Given the description of an element on the screen output the (x, y) to click on. 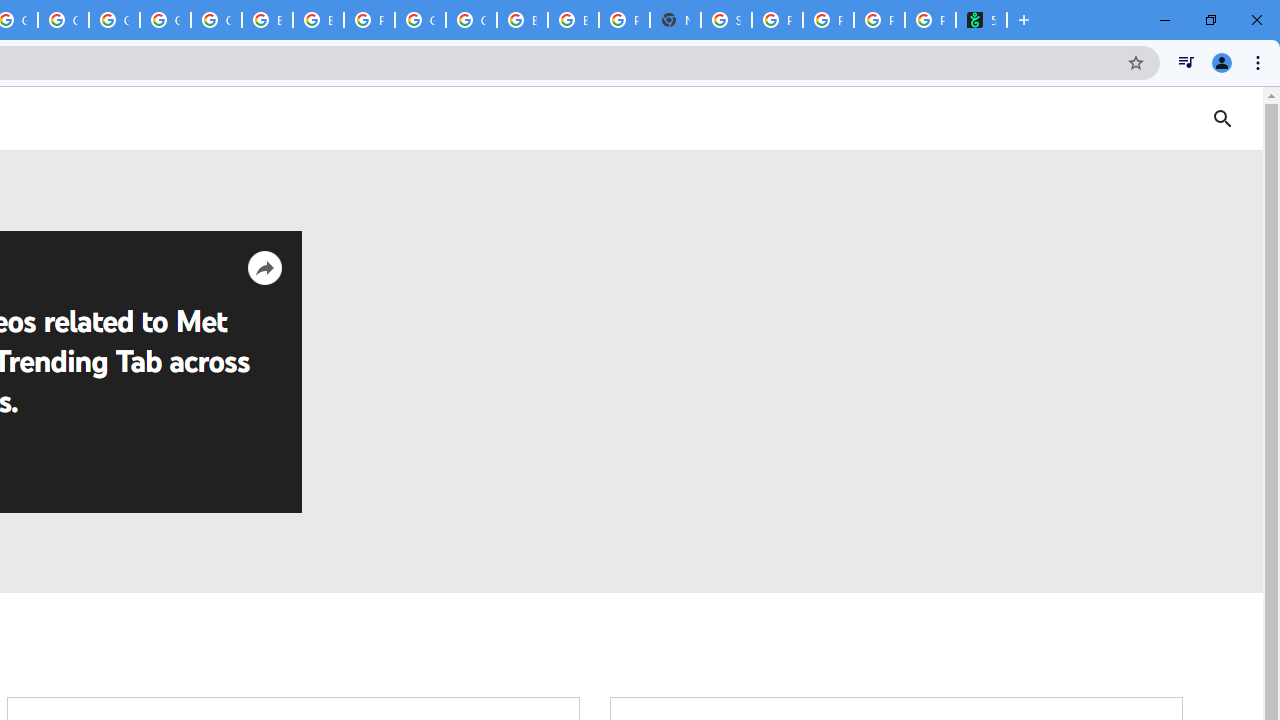
Browse Chrome as a guest - Computer - Google Chrome Help (521, 20)
Google Cloud Platform (113, 20)
